Given the description of an element on the screen output the (x, y) to click on. 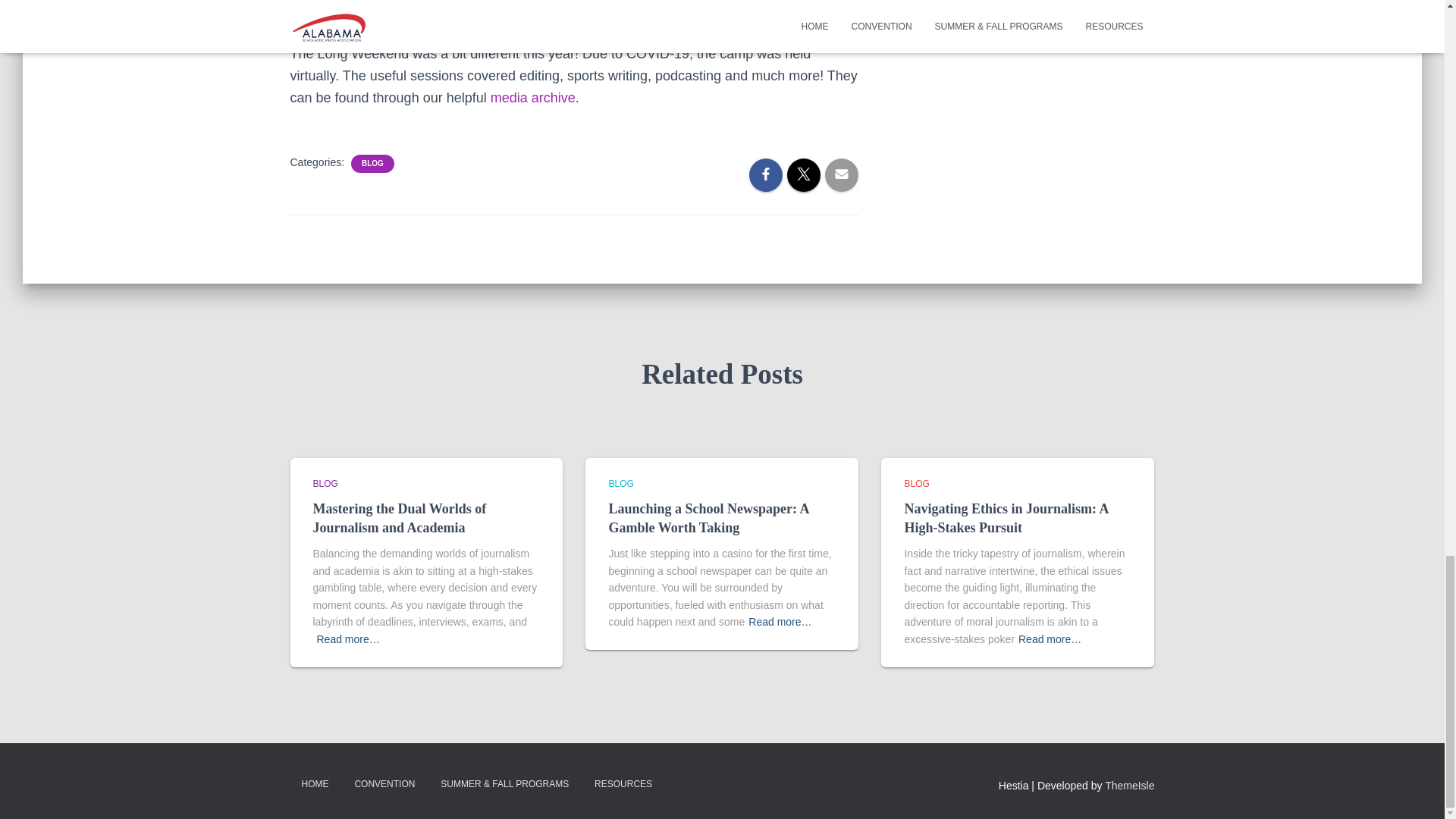
Launching a School Newspaper: A Gamble Worth Taking (708, 518)
Launching a School Newspaper: A Gamble Worth Taking (708, 518)
CONVENTION (384, 784)
View all posts in Blog (620, 483)
View all posts in Blog (325, 483)
BLOG (325, 483)
media archive (532, 97)
Navigating Ethics in Journalism: A High-Stakes Pursuit (1006, 518)
HOME (314, 784)
Mastering the Dual Worlds of Journalism and Academia (399, 518)
